Given the description of an element on the screen output the (x, y) to click on. 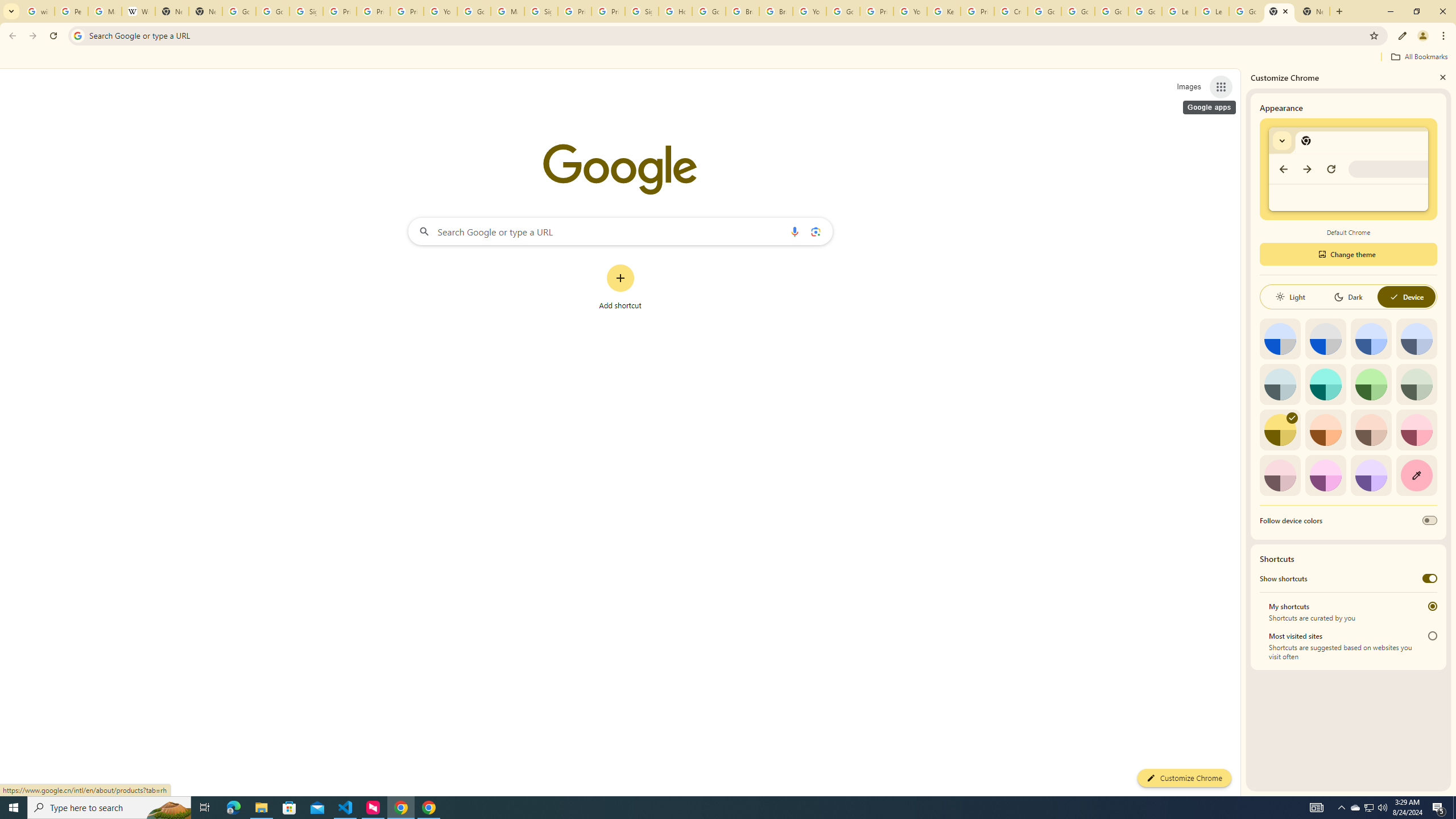
YouTube (441, 11)
Show shortcuts (1429, 578)
Orange (1325, 429)
Google apps (1220, 86)
Default color (1279, 338)
All Bookmarks (1418, 56)
Brand Resource Center (742, 11)
Default Chrome (1348, 169)
New Tab (205, 11)
Green (1371, 383)
Create your Google Account (1010, 11)
